Given the description of an element on the screen output the (x, y) to click on. 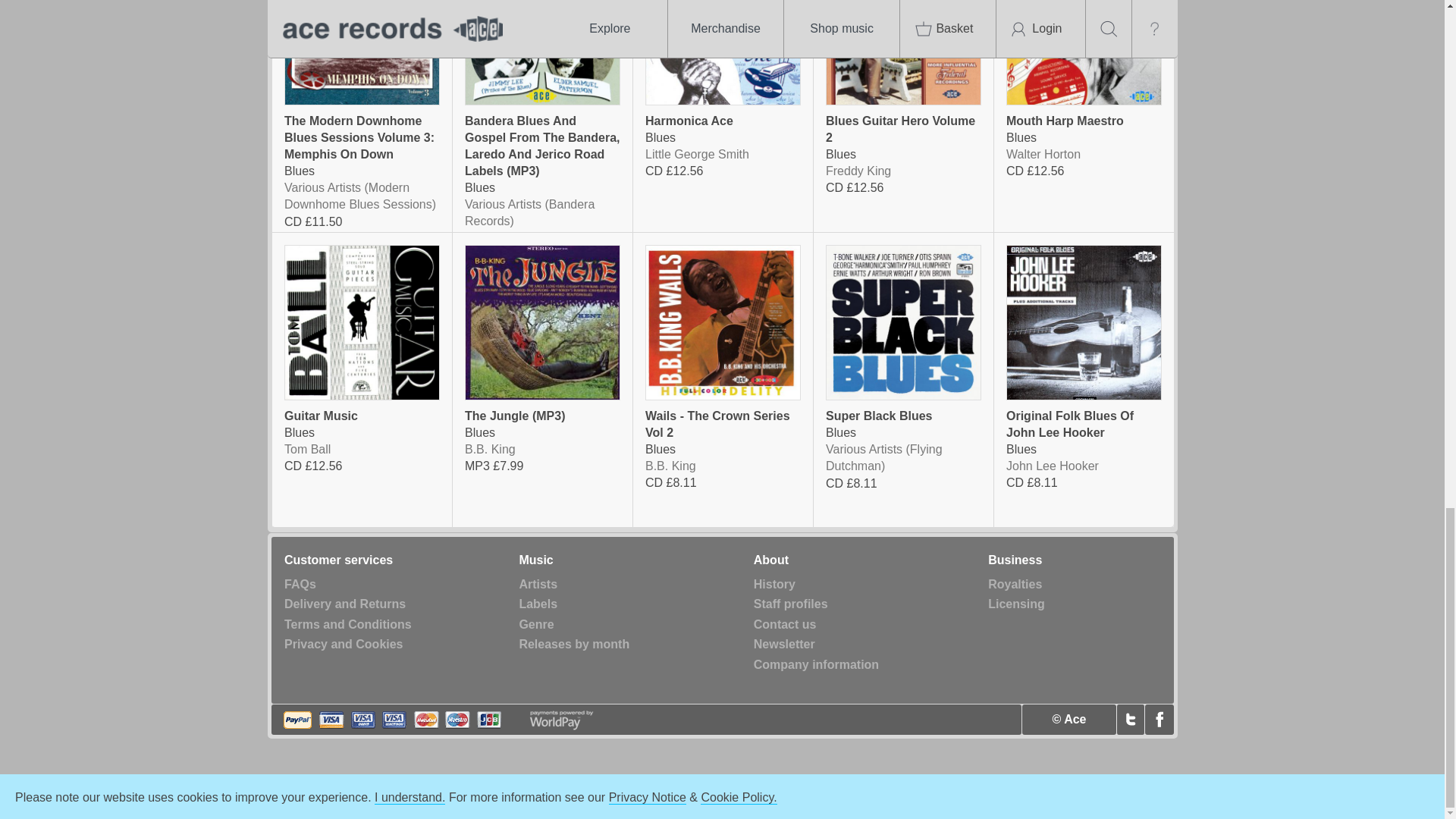
Twitter (1130, 719)
Facebook (1158, 719)
